Given the description of an element on the screen output the (x, y) to click on. 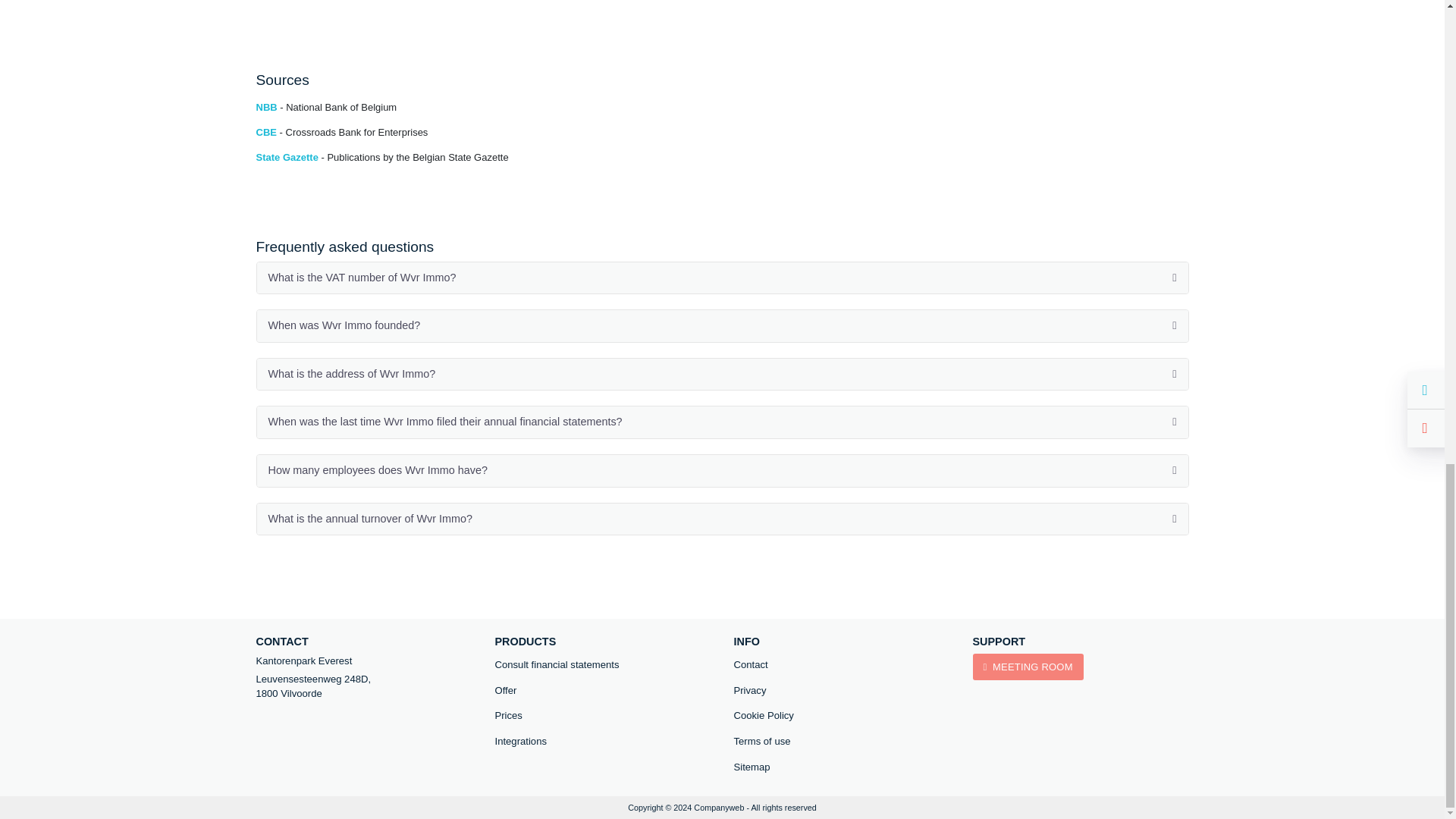
Contact (841, 664)
State Gazette - Publications by the Belgian State Gazette (382, 156)
Consult financial statements (602, 664)
Terms of use (841, 741)
CBE - Crossroads Bank for Enterprises (342, 132)
NBB - National Bank of Belgium (326, 107)
Privacy (841, 690)
Cookie Policy (841, 715)
Prices (602, 715)
Integrations (602, 741)
